Given the description of an element on the screen output the (x, y) to click on. 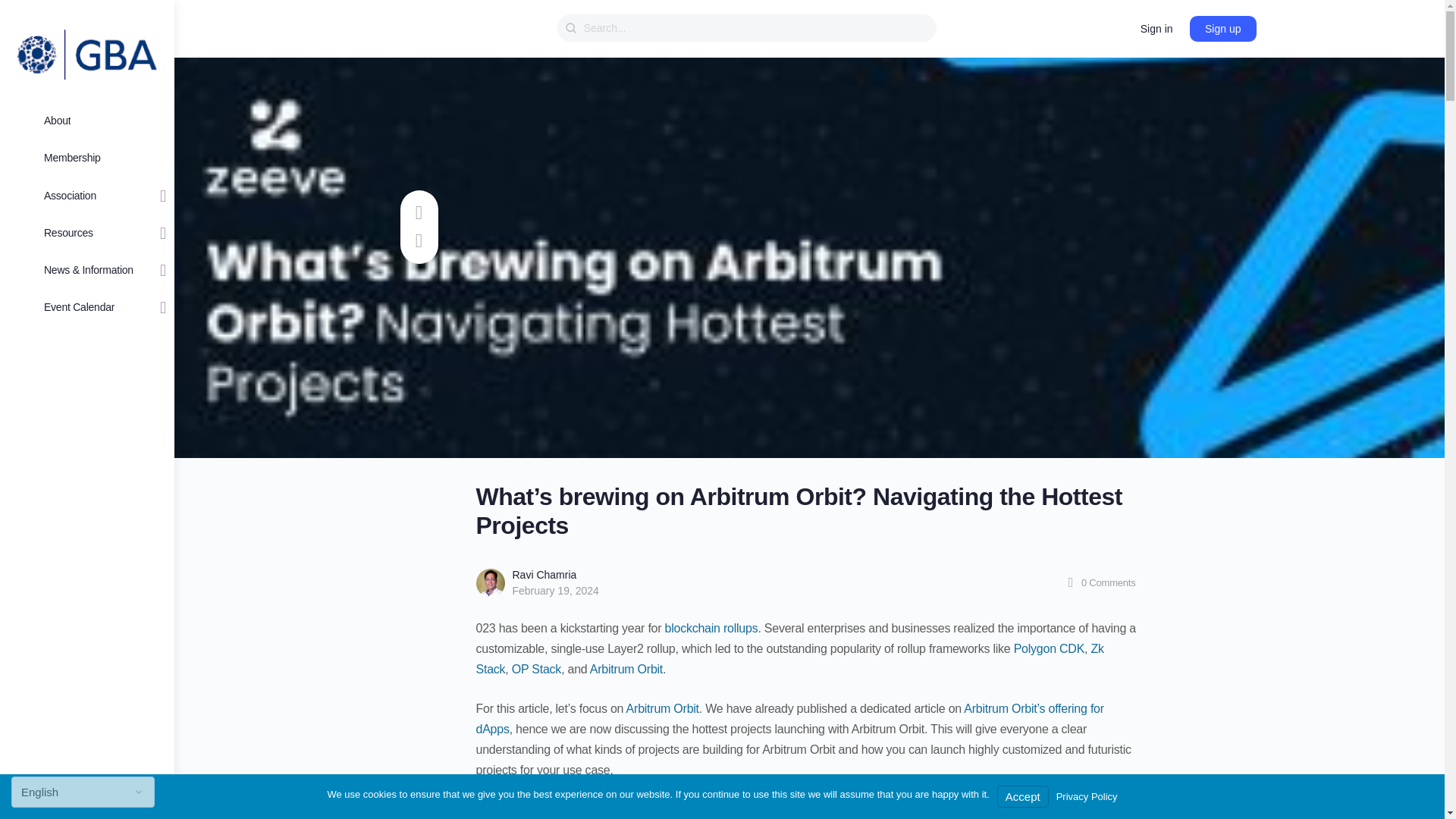
Event Calendar (87, 306)
Sign up (1222, 28)
About (87, 120)
Membership (87, 157)
Sign in (1156, 28)
Resources (87, 232)
Association (87, 195)
